Given the description of an element on the screen output the (x, y) to click on. 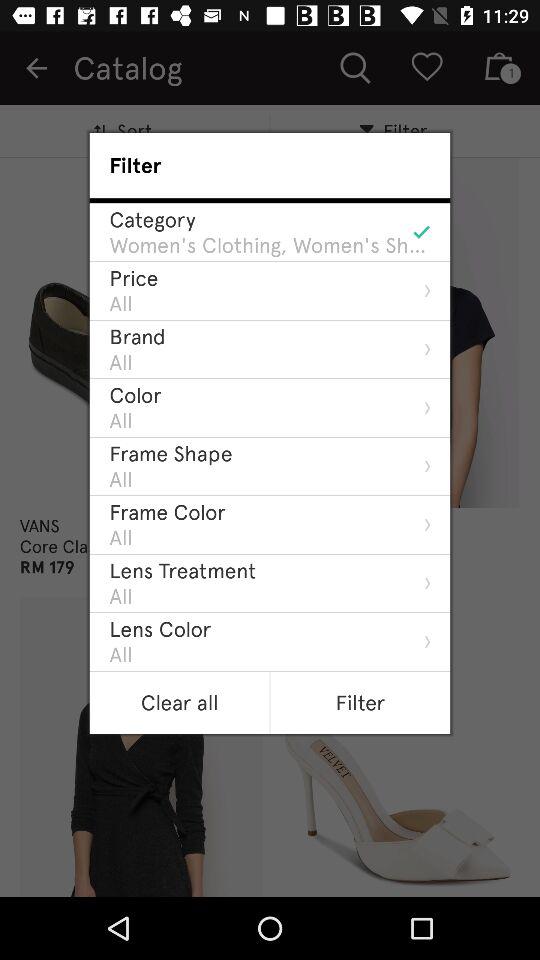
choose the frame color item (167, 512)
